Given the description of an element on the screen output the (x, y) to click on. 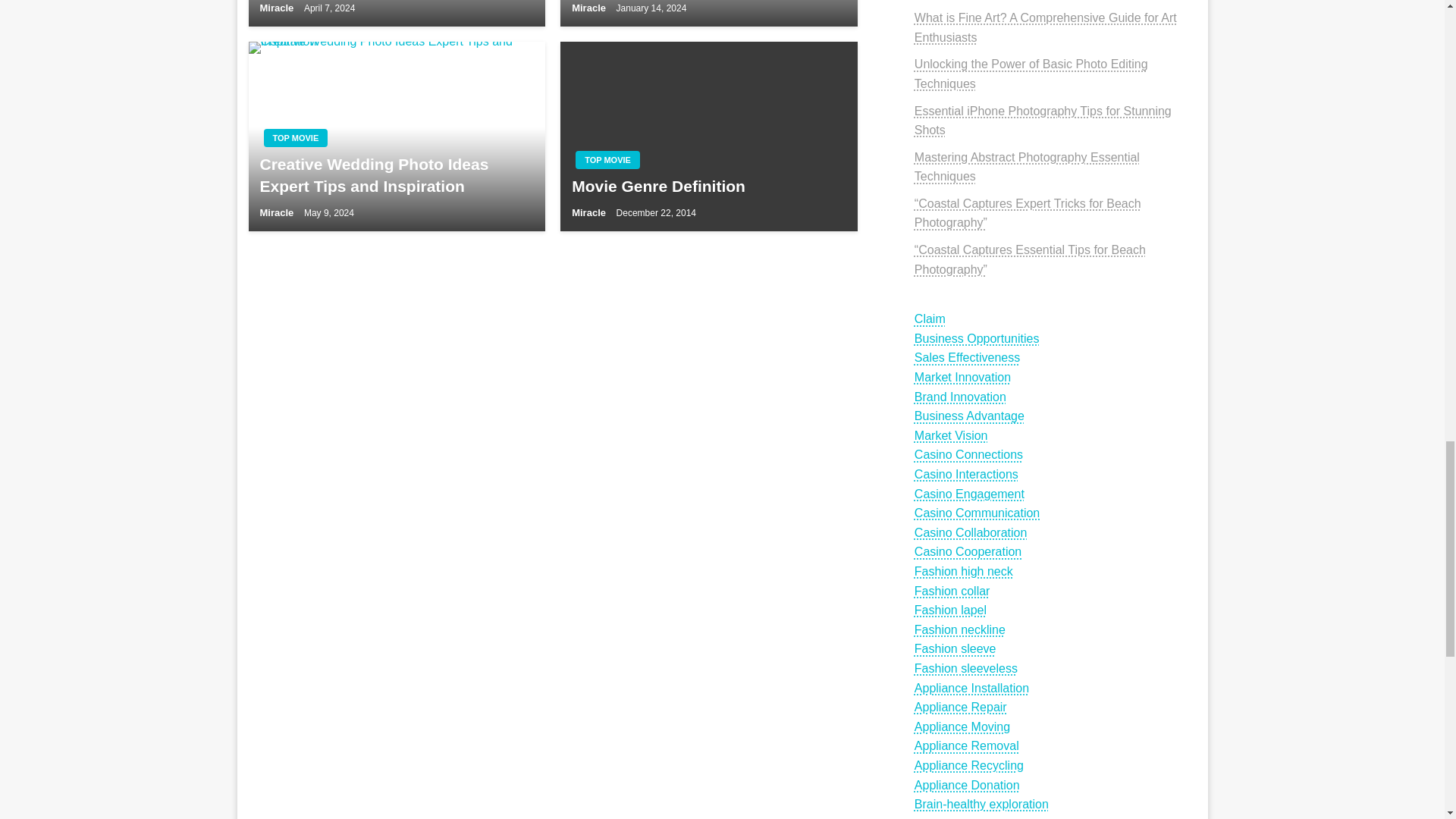
Miracle (590, 7)
Creative Wedding Photo Ideas Expert Tips and Inspiration (397, 135)
Digital Recognition: Shaping the Future Landscape (708, 13)
Miracle (277, 7)
Visionaries of Now Contemporary Artists Redefining 2021 (397, 13)
